Given the description of an element on the screen output the (x, y) to click on. 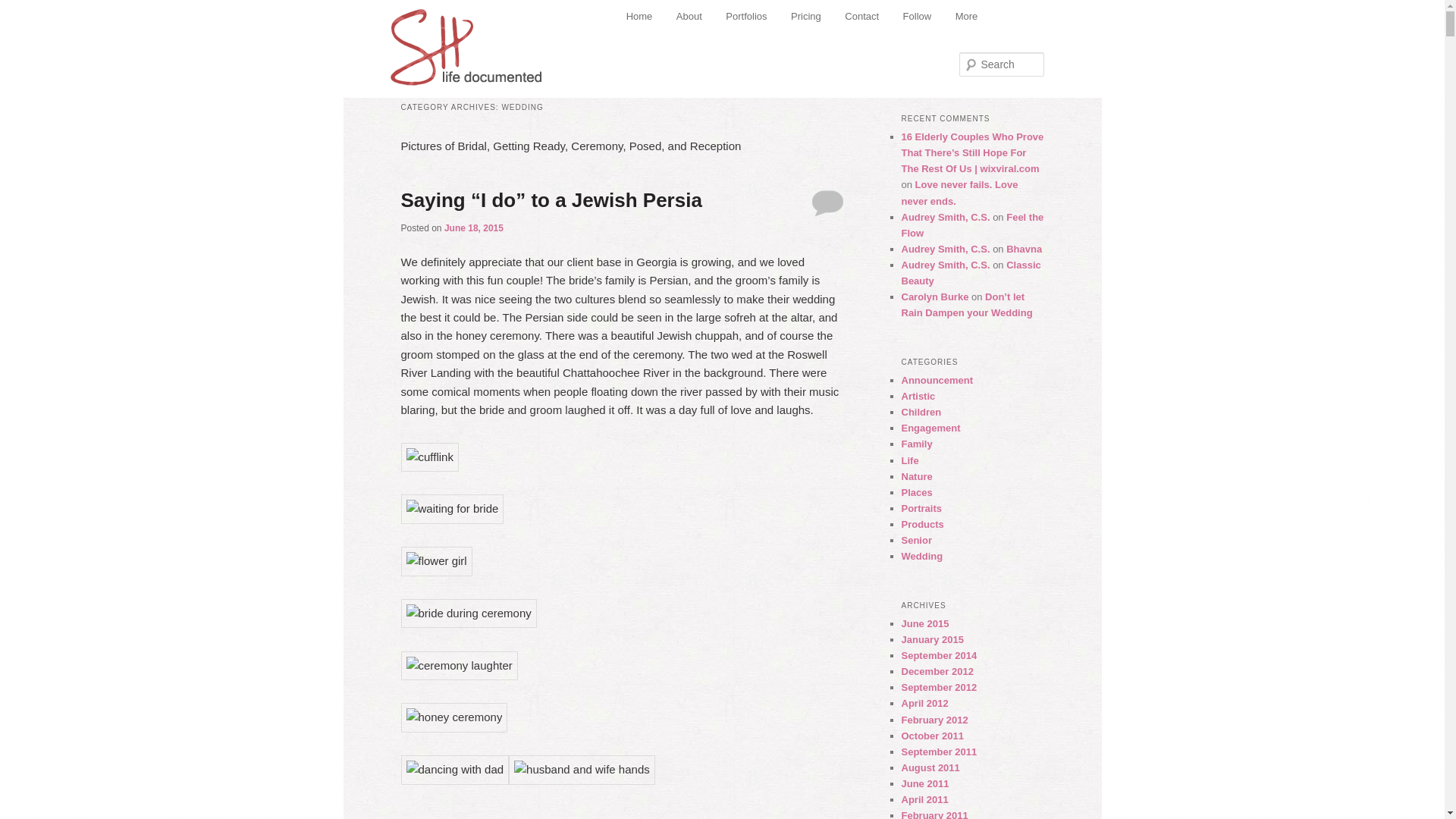
Skip to secondary content (700, 18)
Contact (861, 16)
Follow (917, 16)
Samantha Howard Photography (467, 41)
Pricing (805, 16)
Skip to primary content (693, 18)
Search (24, 8)
About (688, 16)
Home (638, 16)
Skip to secondary content (700, 18)
More (966, 16)
3:40 pm (473, 227)
Skip to primary content (693, 18)
Portfolios (746, 16)
June 18, 2015 (473, 227)
